Given the description of an element on the screen output the (x, y) to click on. 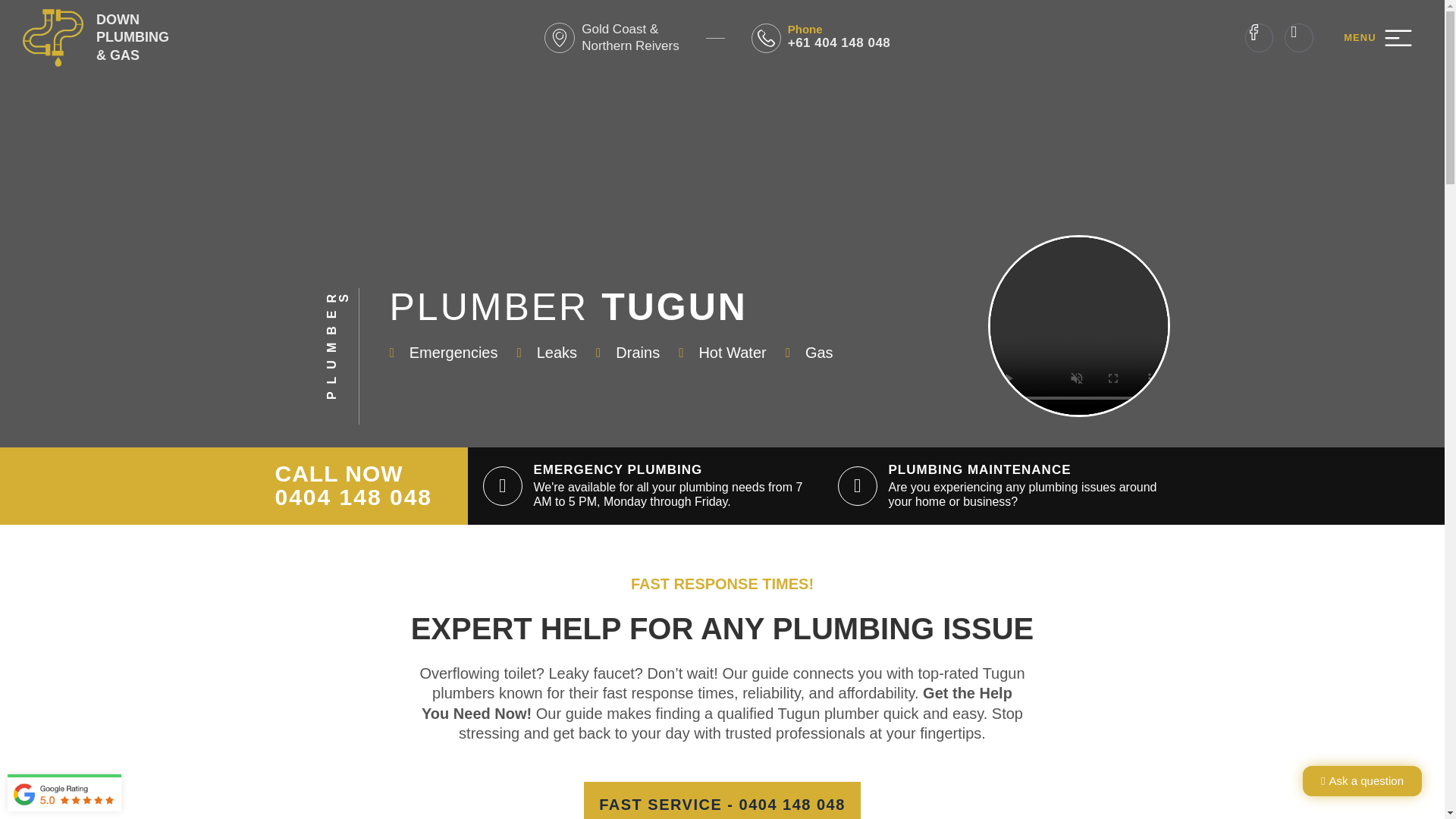
Facebook (1259, 37)
FAST SERVICE - 0404 148 048 (721, 800)
Instagram (1298, 37)
MENU (1359, 37)
Phone (804, 29)
Ask a question (1362, 780)
